Given the description of an element on the screen output the (x, y) to click on. 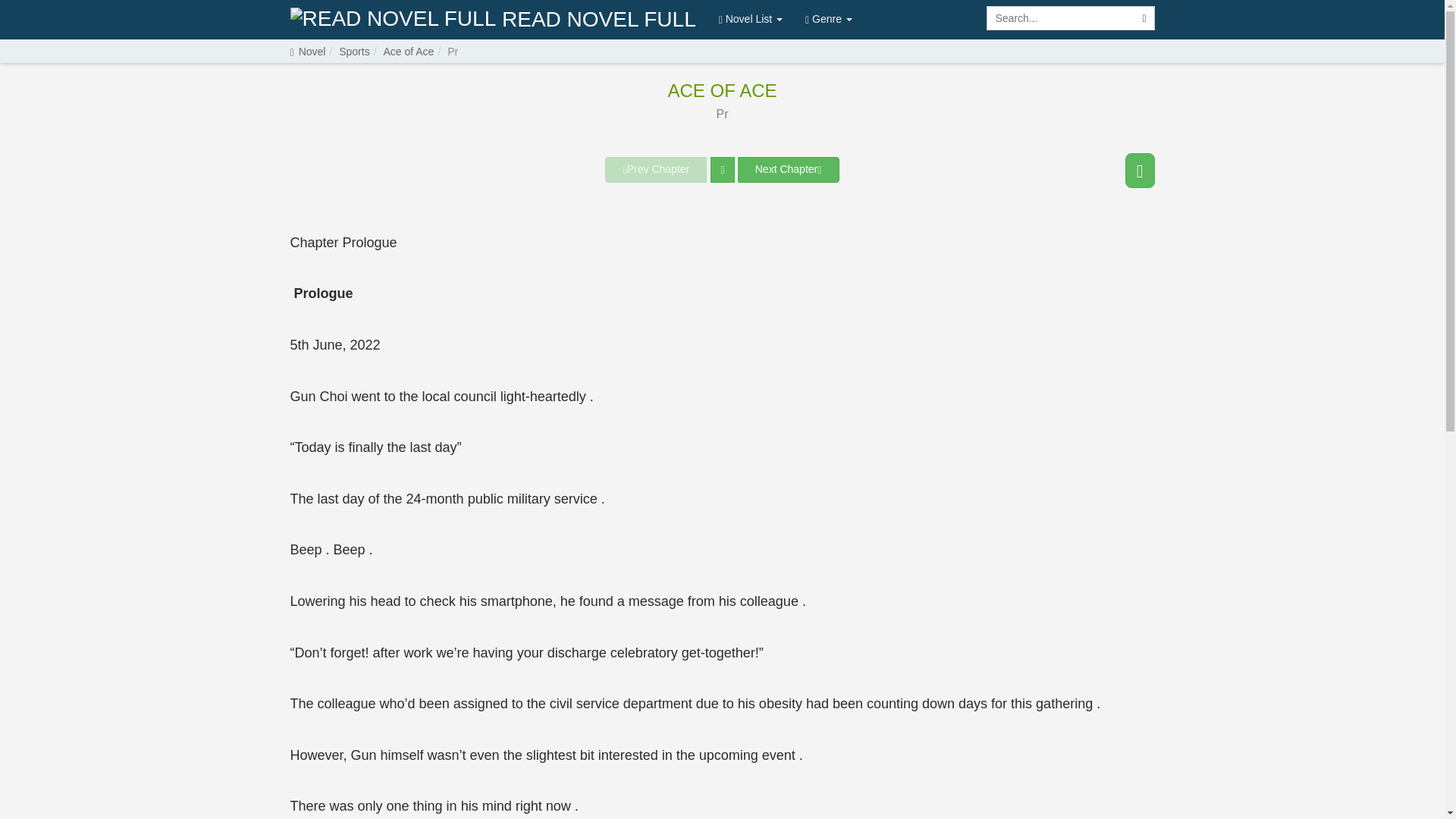
Genre (828, 18)
READ NOVEL FULL (492, 19)
Read Novel Full (492, 19)
Novel List (750, 18)
